Given the description of an element on the screen output the (x, y) to click on. 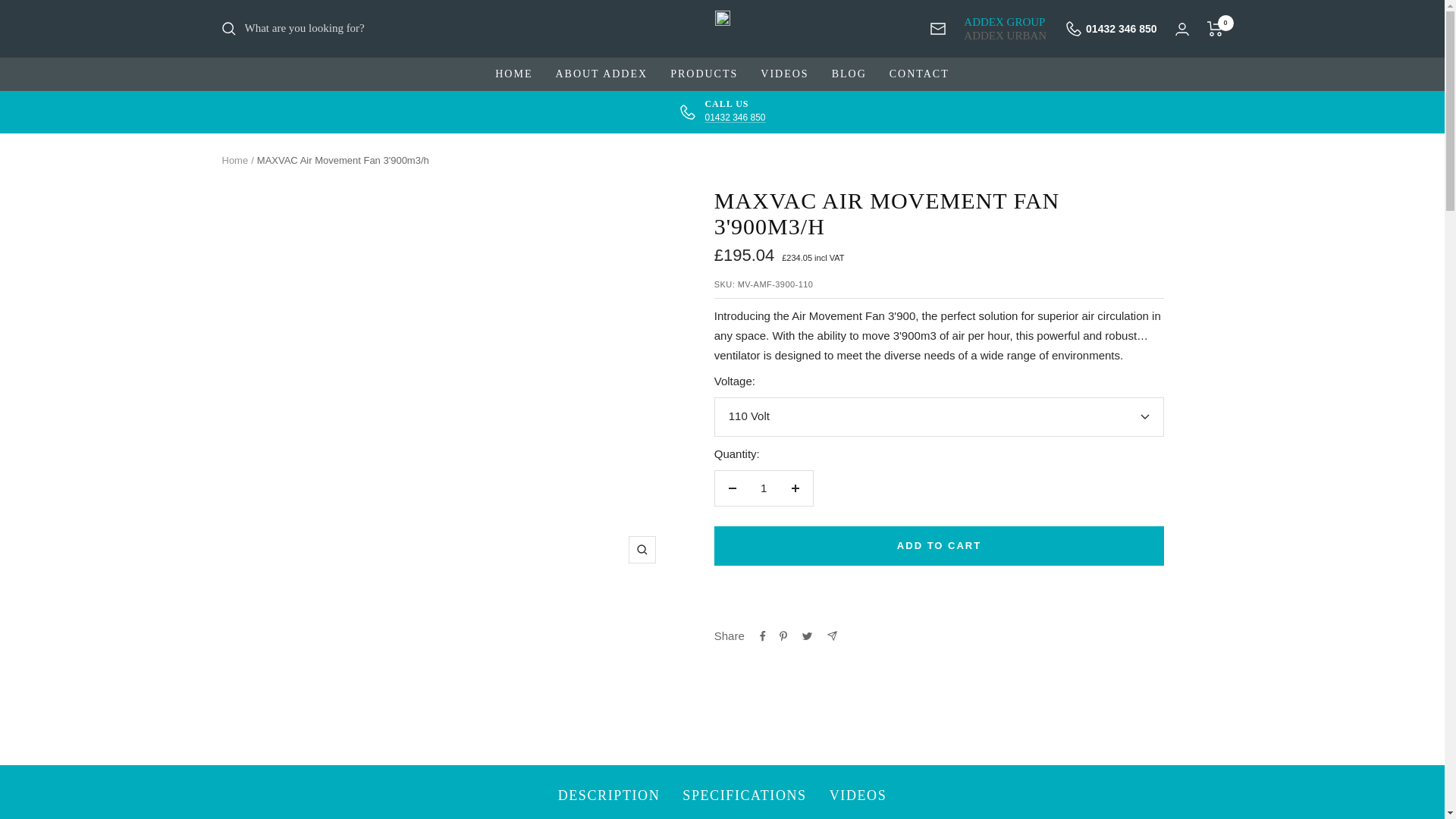
VIDEOS (784, 73)
HOME (513, 73)
0 (1215, 28)
01432 346 850 (734, 117)
Newsletter (937, 28)
BLOG (849, 73)
ADDEX URBAN (1004, 35)
PRODUCTS (704, 73)
Home (234, 160)
CONTACT (918, 73)
ADDEX GROUP (1004, 21)
01432 346 850 (721, 111)
1 (1110, 28)
Zoom (763, 488)
